Given the description of an element on the screen output the (x, y) to click on. 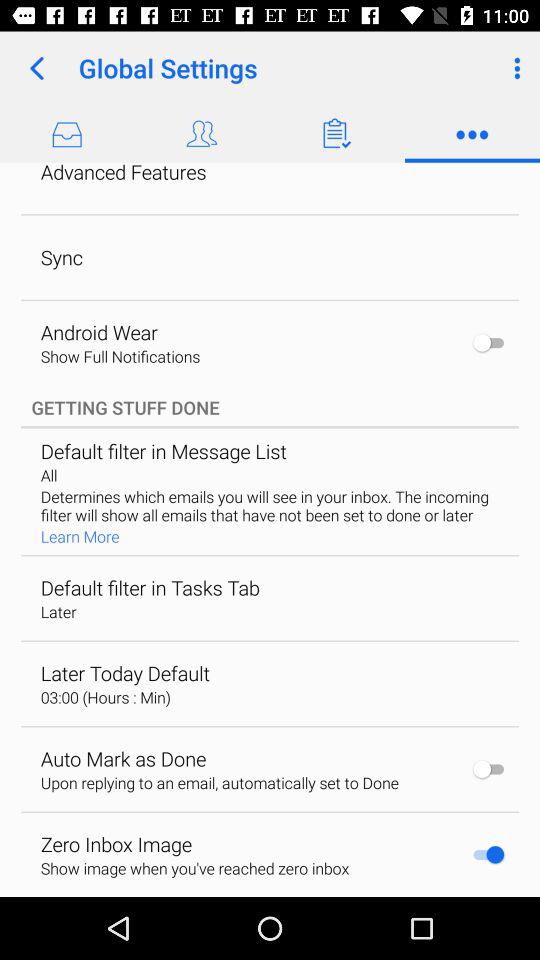
jump until the later today default app (125, 673)
